Given the description of an element on the screen output the (x, y) to click on. 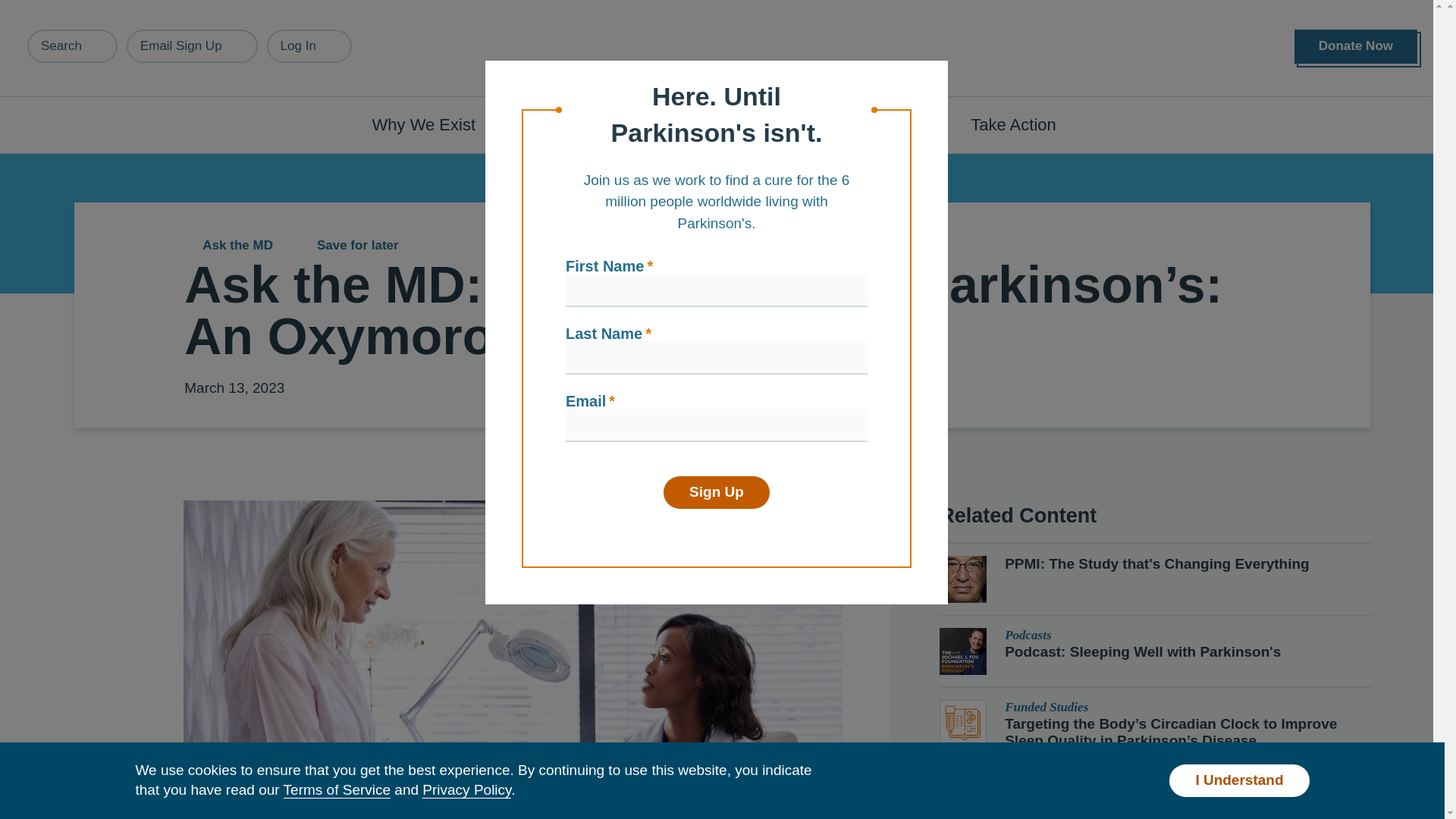
Skip to main content (96, 7)
Understanding Parkinson's (640, 125)
Why We Exist (432, 125)
Log In (309, 46)
Home Page (722, 48)
Search (72, 46)
Email Sign Up (191, 46)
Donate Now (1355, 46)
